Given the description of an element on the screen output the (x, y) to click on. 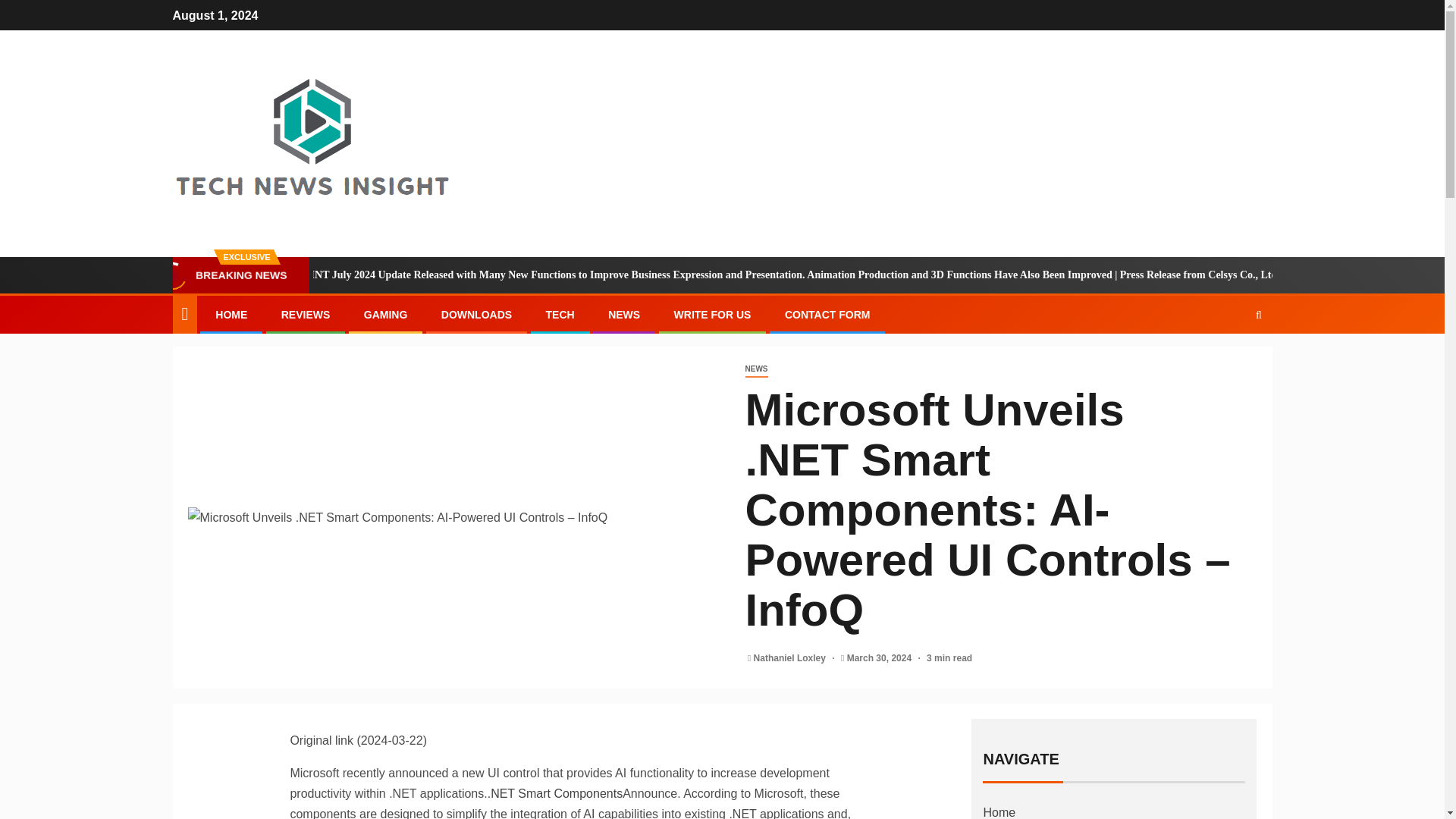
.NET Smart Components (555, 793)
HOME (231, 314)
NEWS (755, 369)
Search (1229, 360)
DOWNLOADS (476, 314)
NEWS (624, 314)
TECH (560, 314)
WRITE FOR US (712, 314)
GAMING (385, 314)
Nathaniel Loxley (791, 657)
REVIEWS (305, 314)
CONTACT FORM (827, 314)
